Given the description of an element on the screen output the (x, y) to click on. 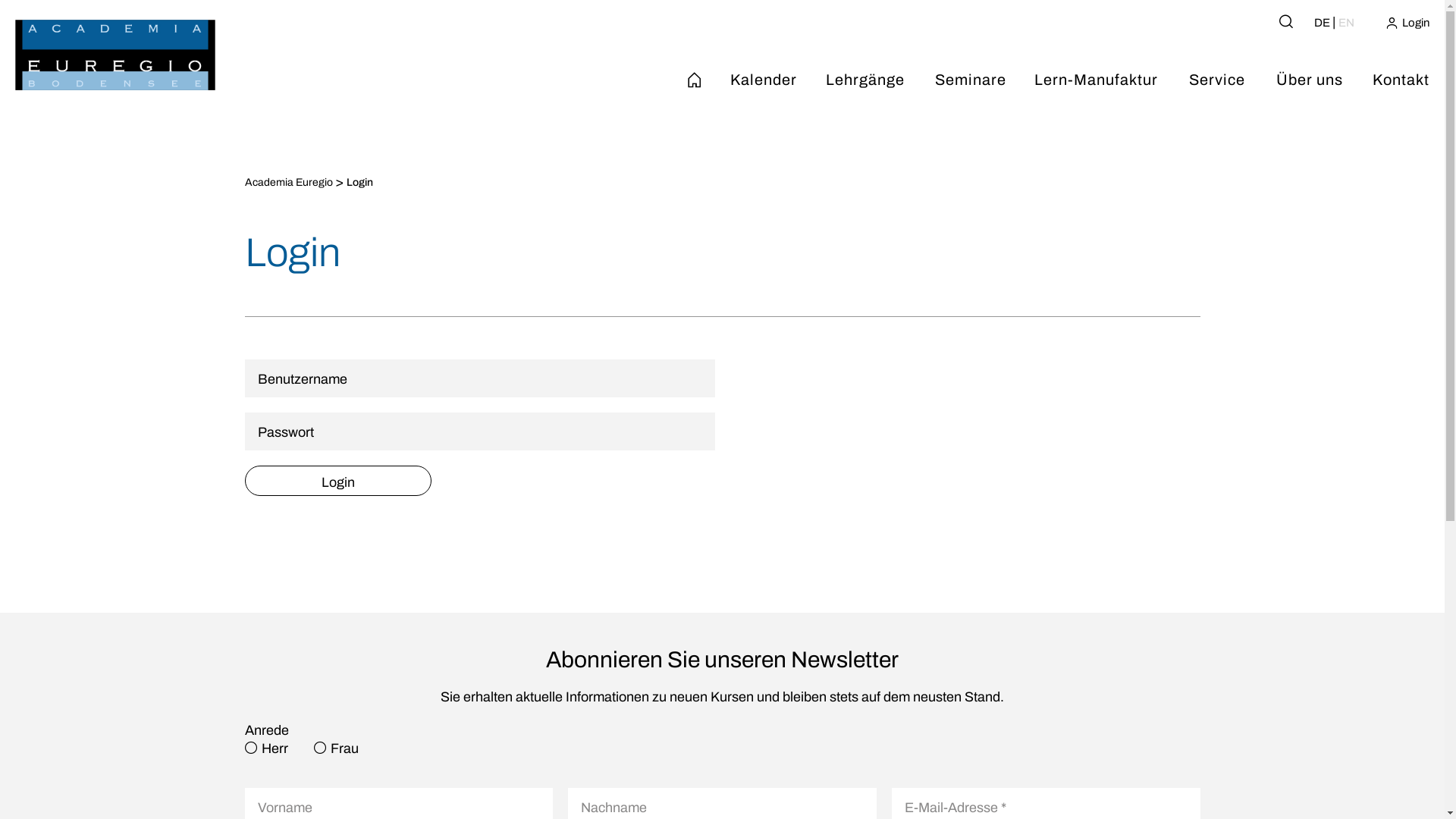
Login Element type: text (337, 480)
Home Element type: hover (694, 79)
Service Element type: text (1217, 80)
Kalender Element type: text (764, 80)
EN Element type: text (1346, 22)
Academia Euregio Element type: text (288, 182)
Seminare Element type: text (971, 80)
Lern-Manufaktur Element type: text (1097, 80)
Login Element type: text (1407, 22)
Kontakt Element type: text (1401, 80)
